Given the description of an element on the screen output the (x, y) to click on. 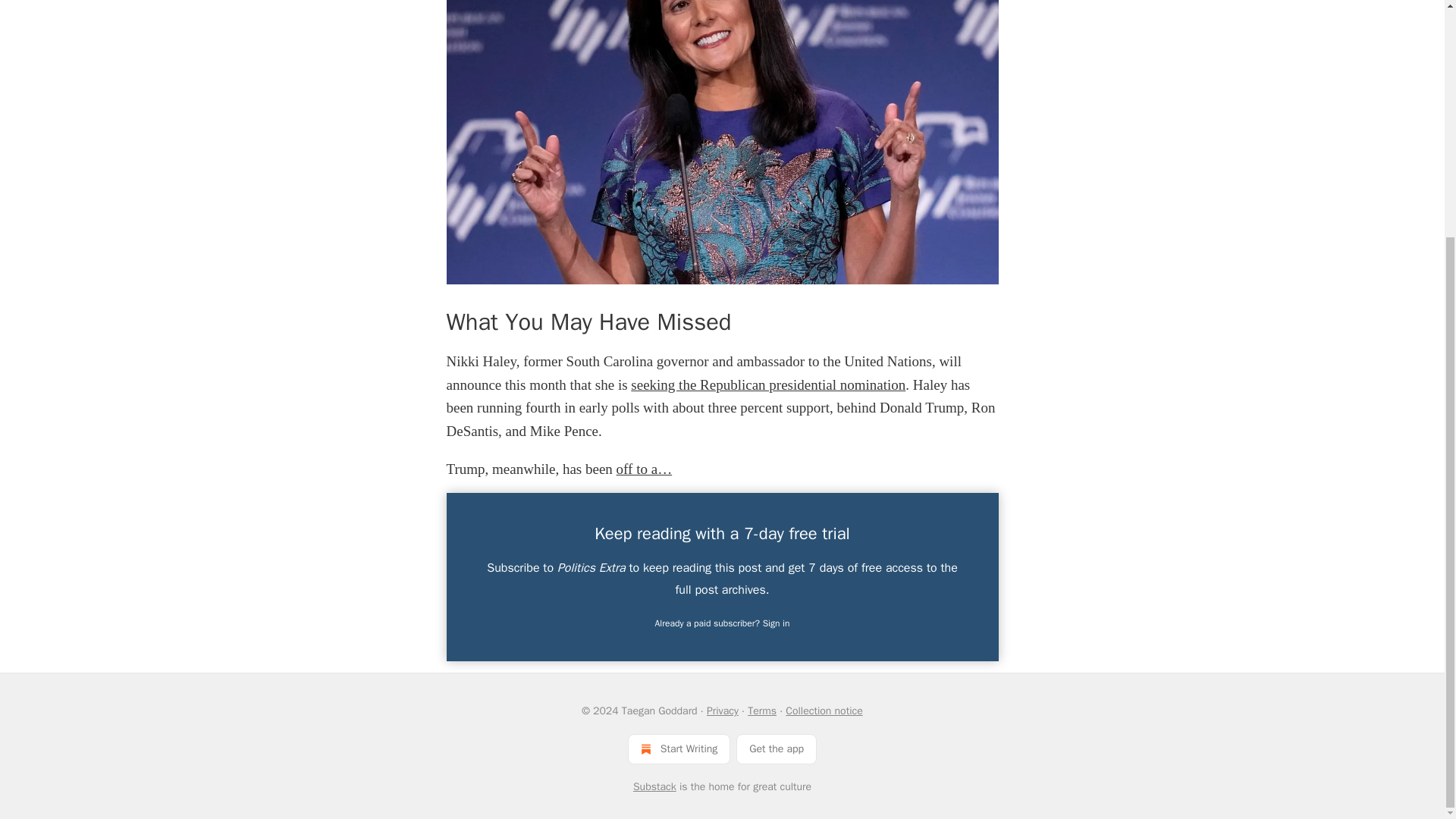
Terms (762, 710)
Get the app (776, 748)
seeking the Republican presidential nomination (767, 384)
Collection notice (823, 710)
Privacy (722, 710)
Substack (655, 786)
Already a paid subscriber? Sign in (722, 623)
Start Writing (678, 748)
